Given the description of an element on the screen output the (x, y) to click on. 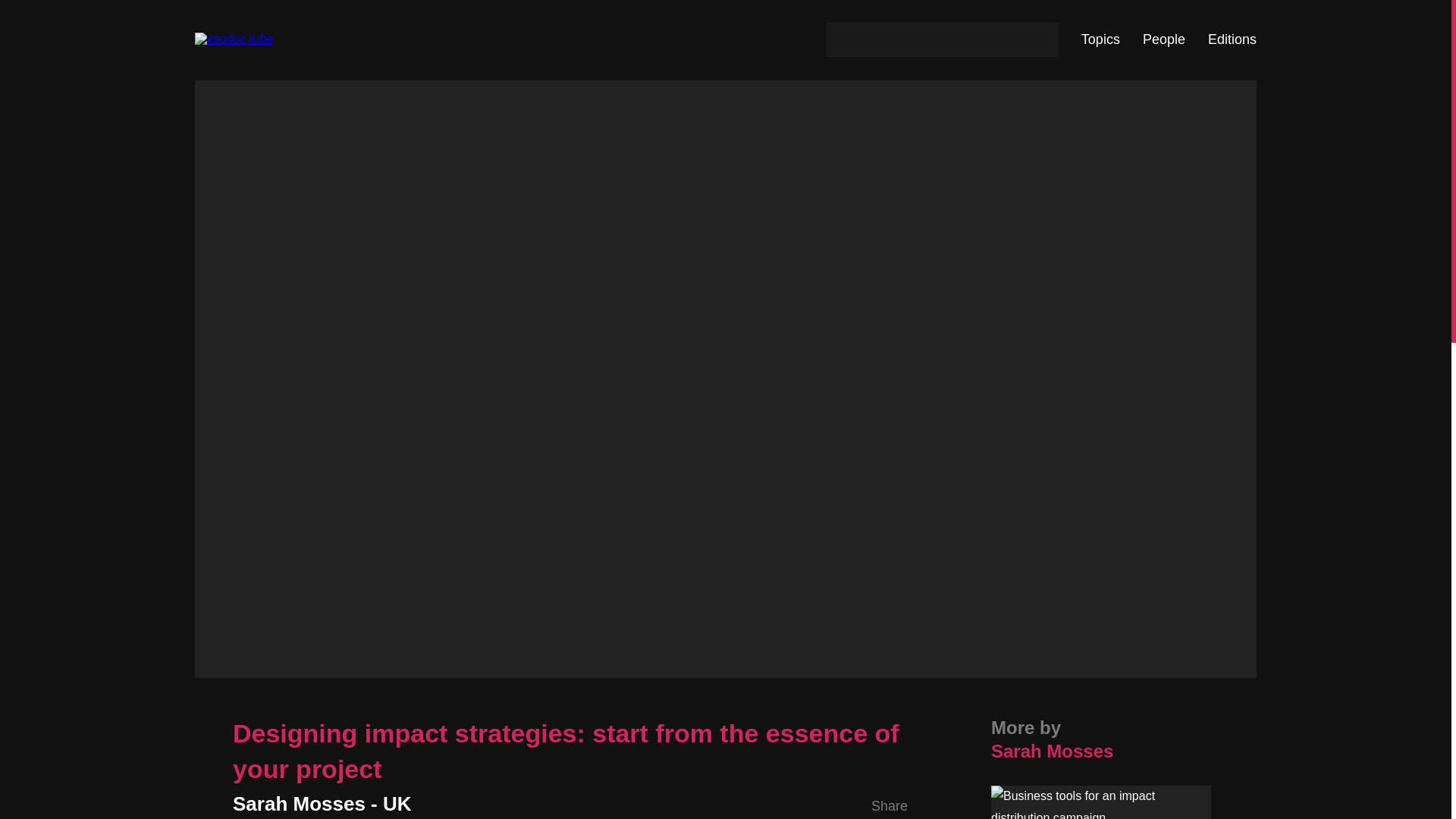
People (1163, 38)
Play Business tools for an impact distribution campaign (1101, 802)
Topics (1100, 38)
Editions (1232, 38)
